Given the description of an element on the screen output the (x, y) to click on. 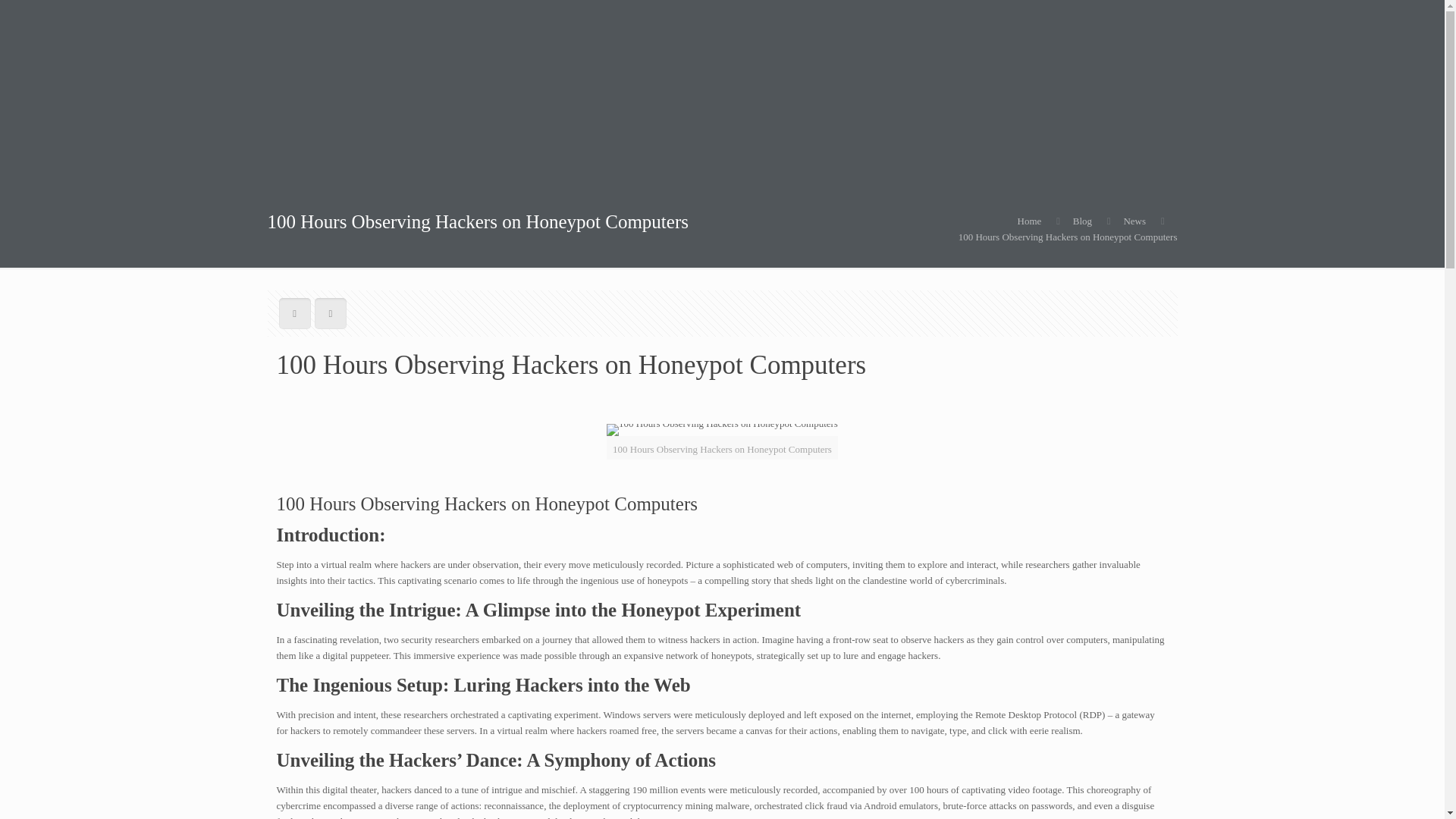
Blog (1082, 220)
Home (1029, 220)
100 Hours Observing Hackers on Honeypot Computers (1067, 236)
News (1133, 220)
